Given the description of an element on the screen output the (x, y) to click on. 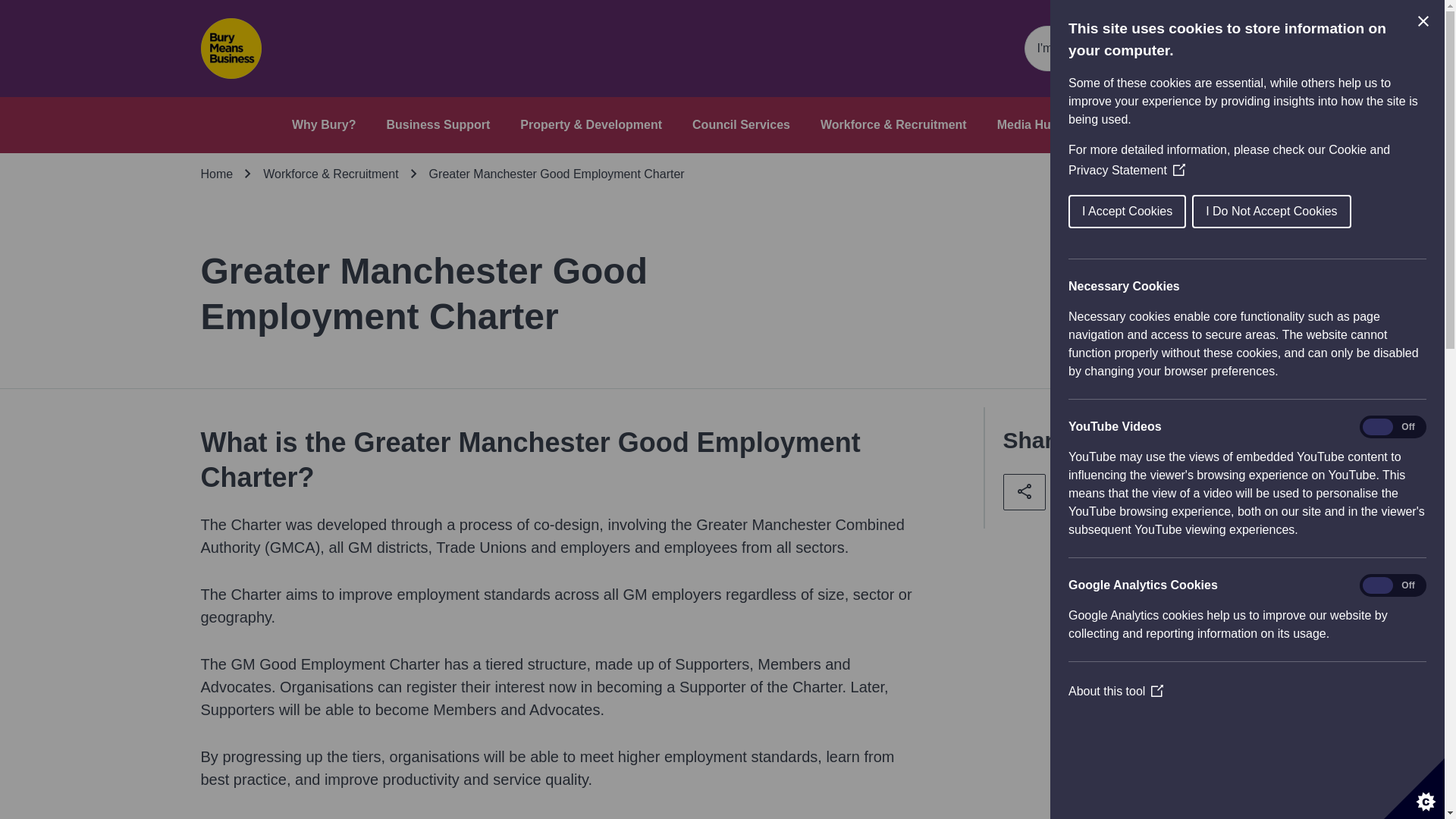
Media Hub (1027, 125)
Council Services (741, 125)
Business Support (437, 125)
Search Site (1133, 48)
Why Bury? (323, 125)
Contact Us (1121, 125)
Home (216, 174)
